Given the description of an element on the screen output the (x, y) to click on. 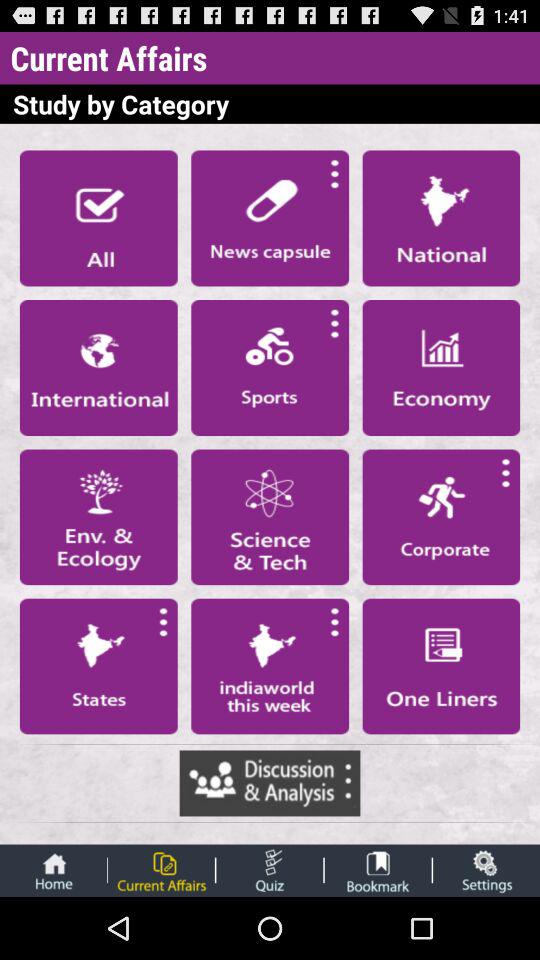
go to bookmarks (378, 870)
